Given the description of an element on the screen output the (x, y) to click on. 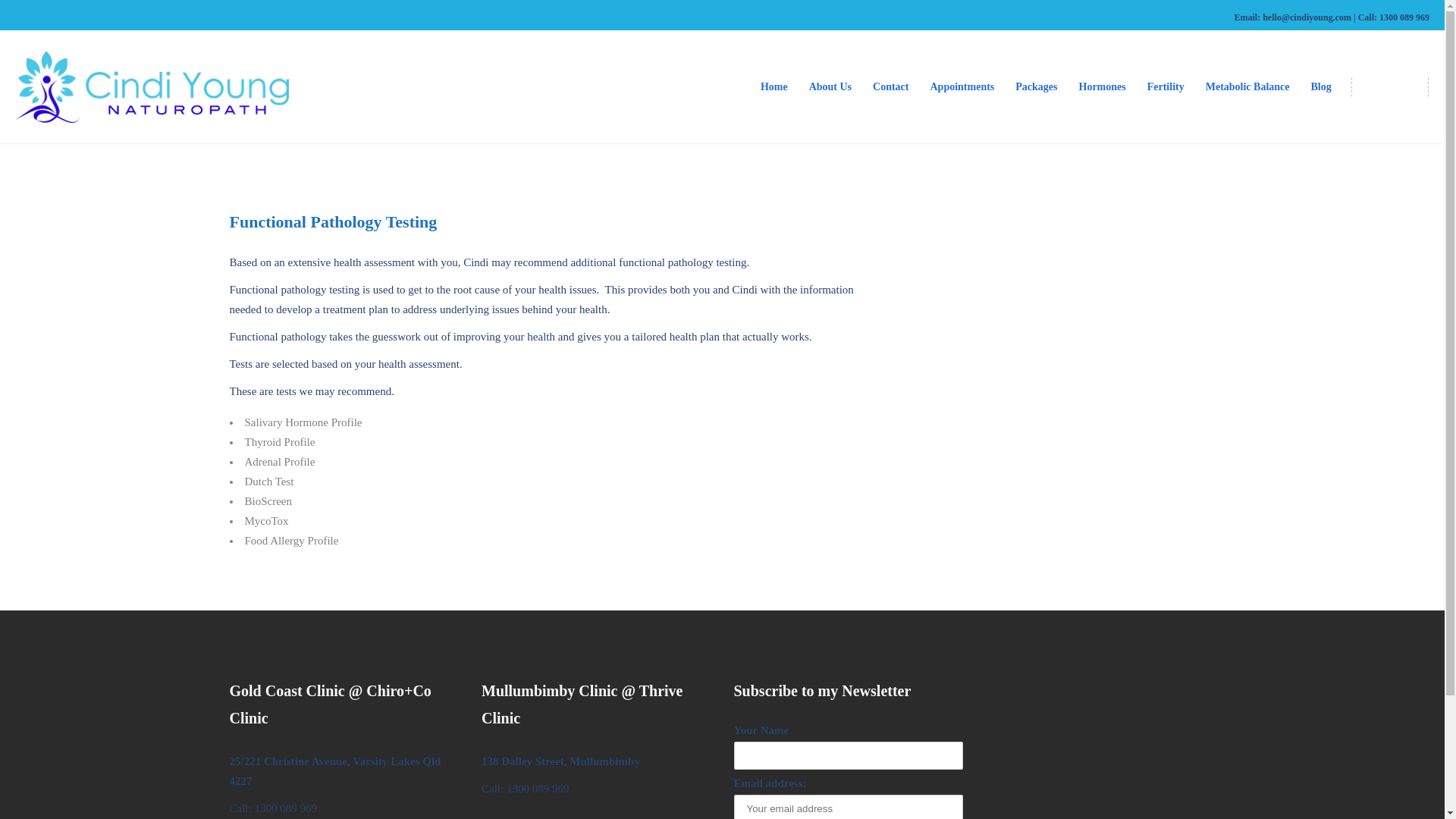
LinkedIn (1411, 79)
Facebook (1368, 79)
Instagram (1389, 79)
Metabolic Balance (1247, 86)
